Given the description of an element on the screen output the (x, y) to click on. 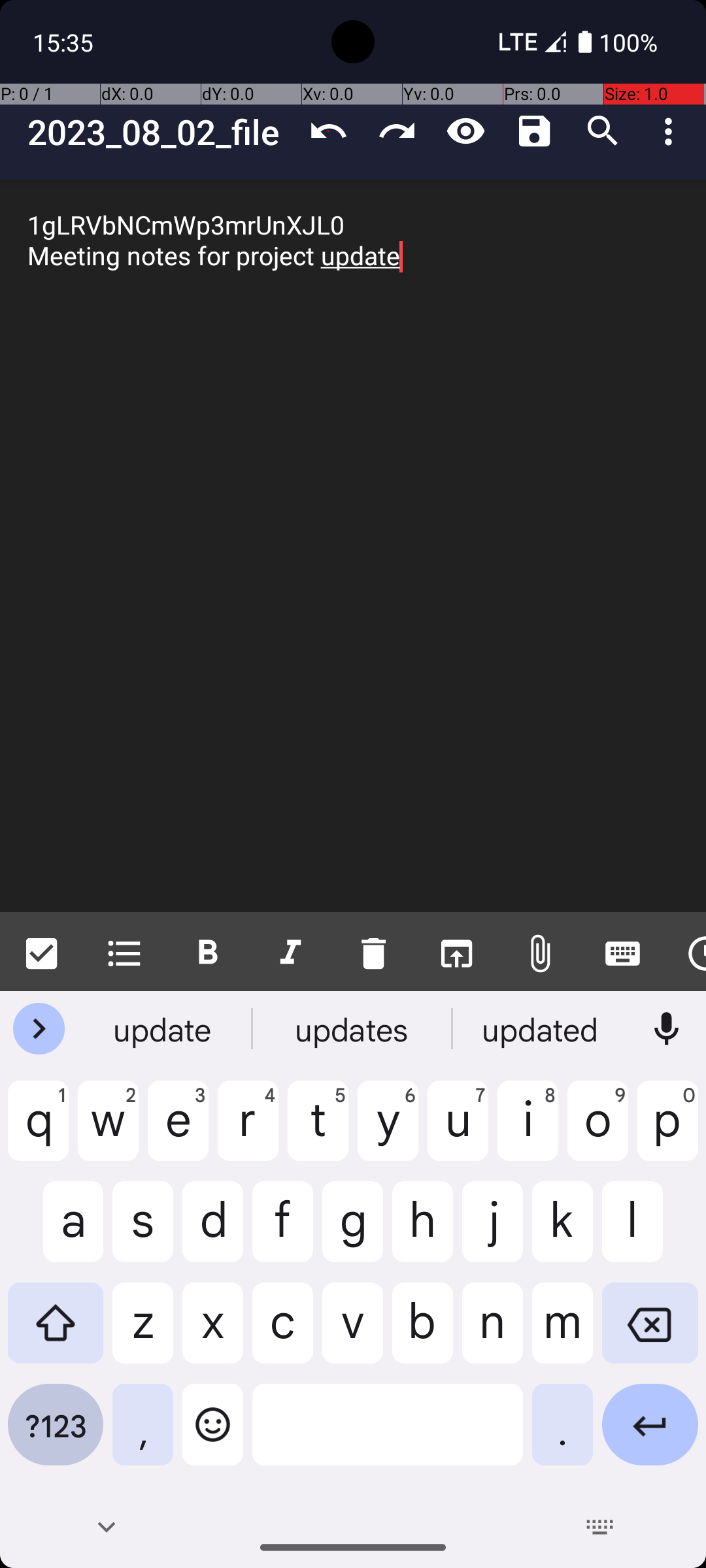
2023_08_02_file Element type: android.widget.TextView (160, 131)
1gLRVbNCmWp3mrUnXJL0
Meeting notes for project update Element type: android.widget.EditText (353, 545)
update Element type: android.widget.FrameLayout (163, 1028)
updates Element type: android.widget.FrameLayout (352, 1028)
updated Element type: android.widget.FrameLayout (541, 1028)
